Given the description of an element on the screen output the (x, y) to click on. 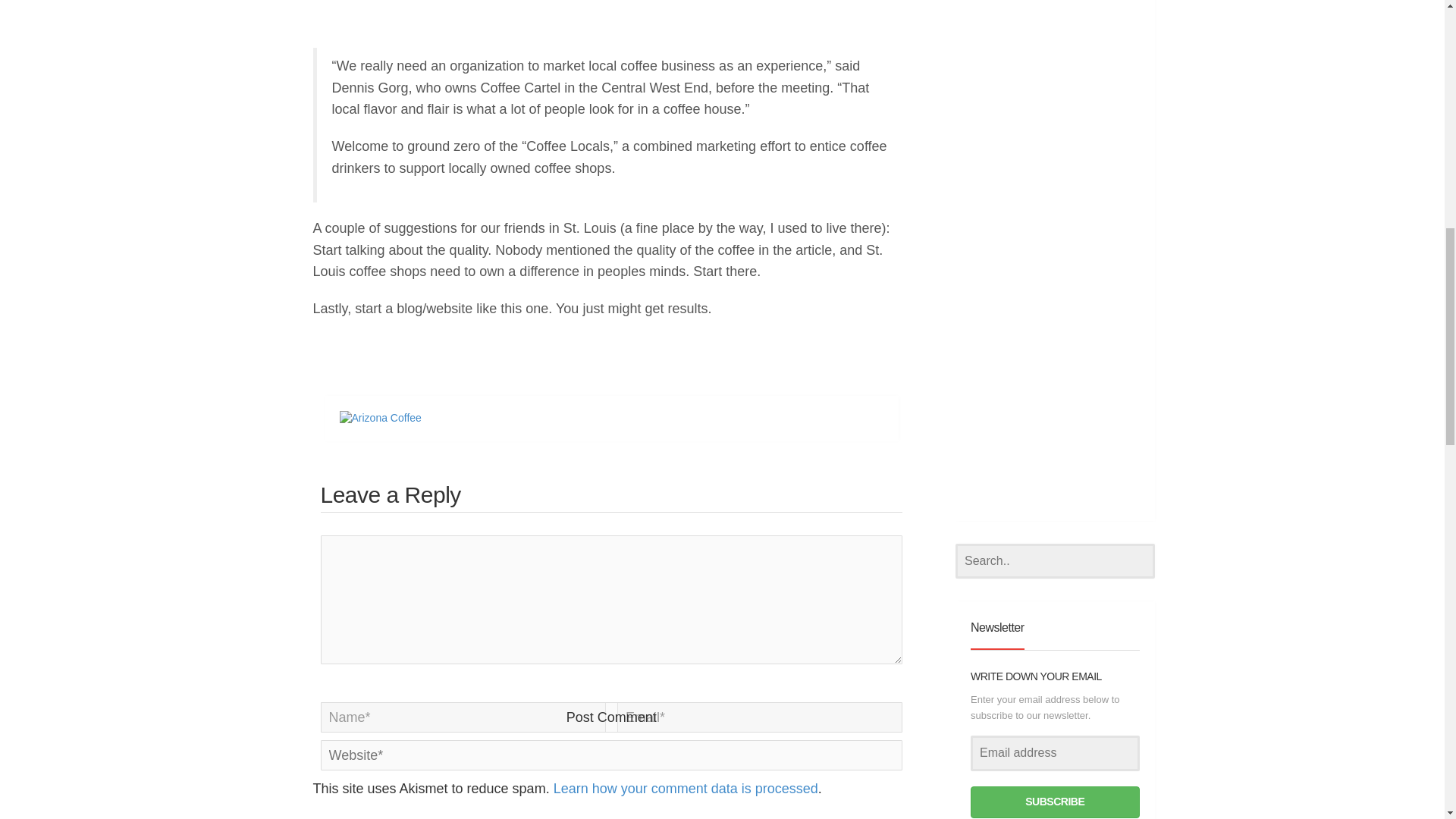
Learn how your comment data is processed (685, 788)
Post Comment (611, 716)
Post Comment (611, 716)
